Given the description of an element on the screen output the (x, y) to click on. 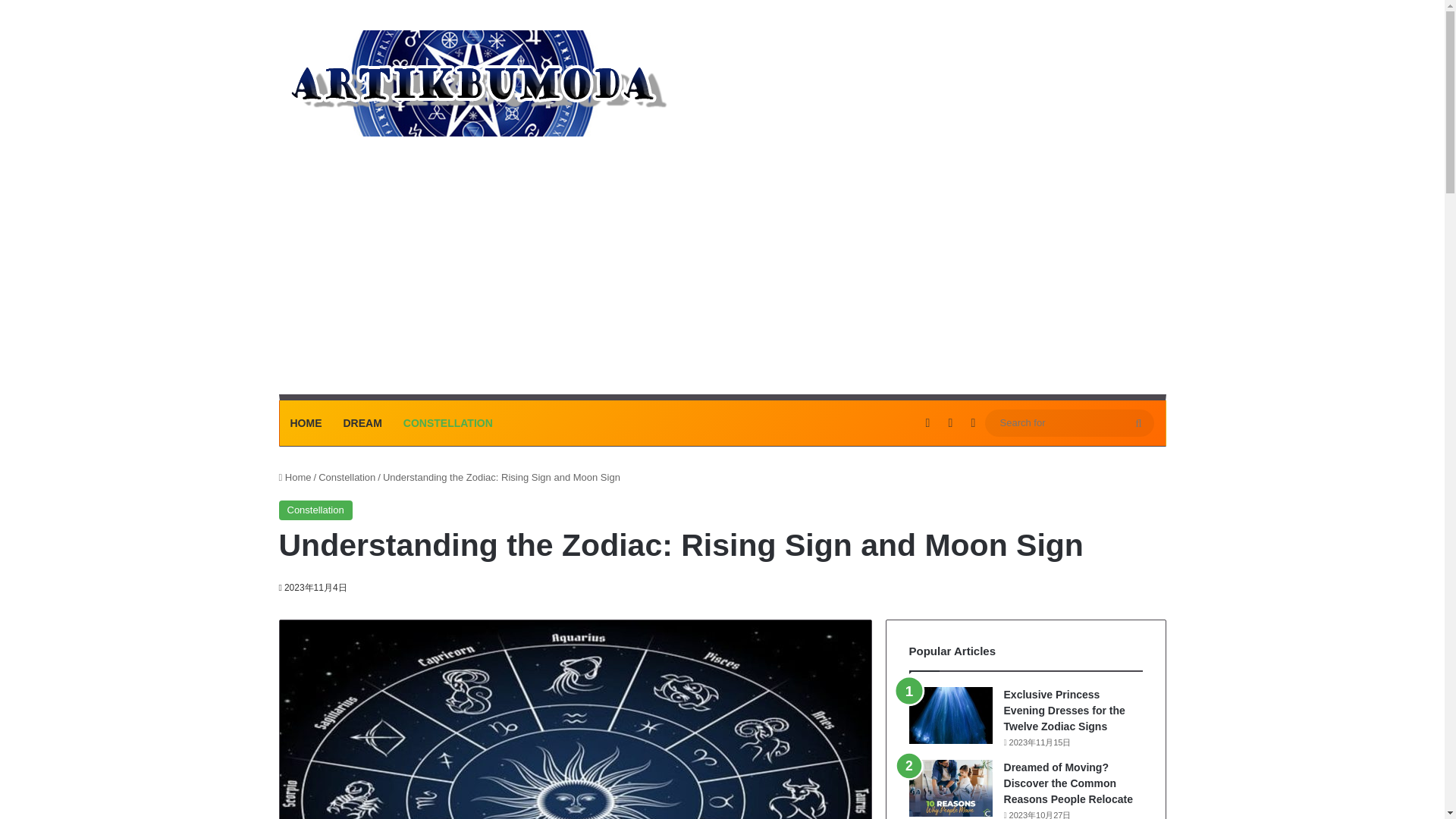
Artikbumoda (474, 83)
DREAM (361, 422)
Search for (1139, 422)
CONSTELLATION (448, 422)
Home (295, 477)
Constellation (346, 477)
Search for (1068, 422)
HOME (305, 422)
Constellation (315, 510)
